Given the description of an element on the screen output the (x, y) to click on. 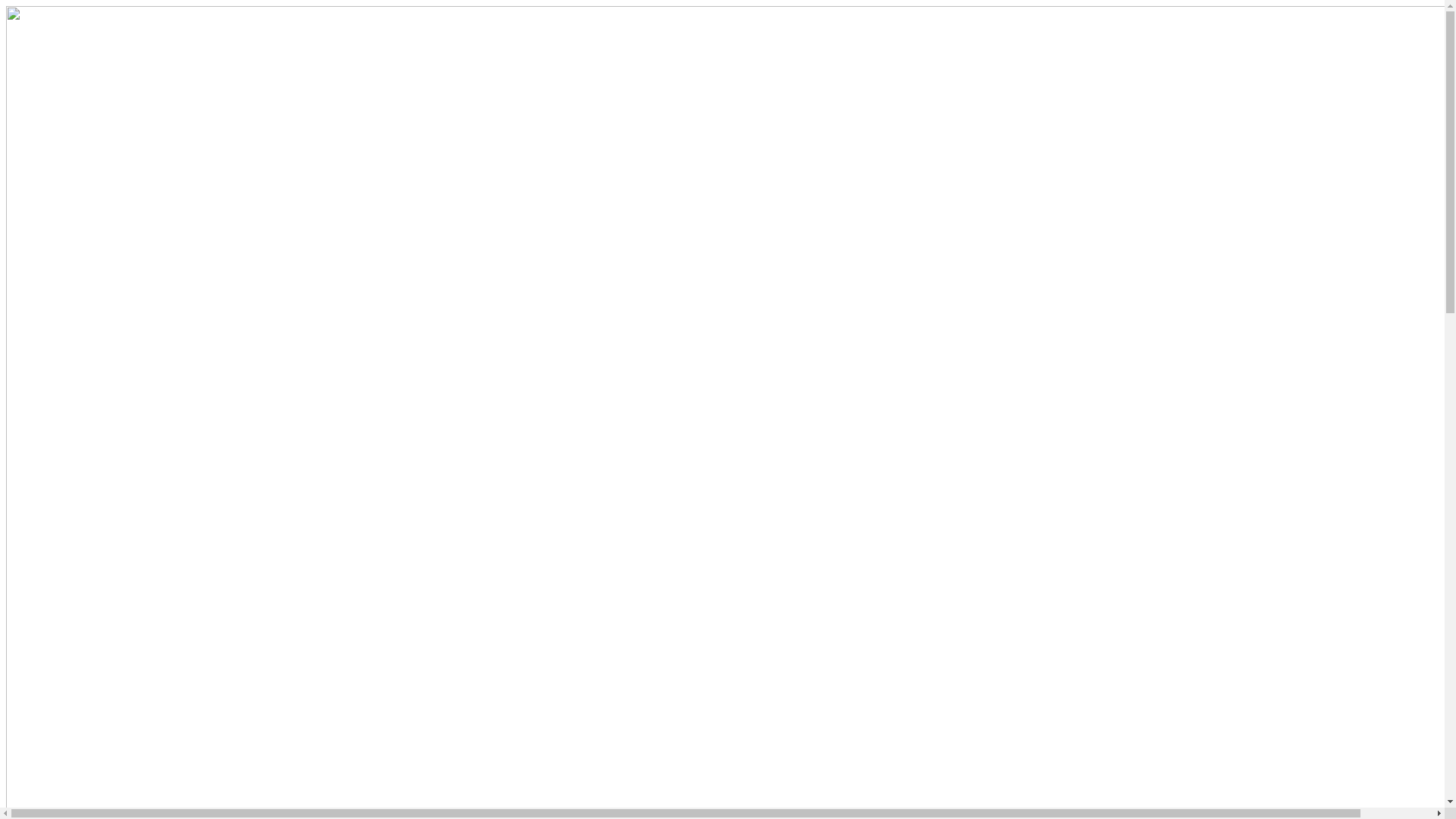
Skip to content Element type: text (5, 5)
